Given the description of an element on the screen output the (x, y) to click on. 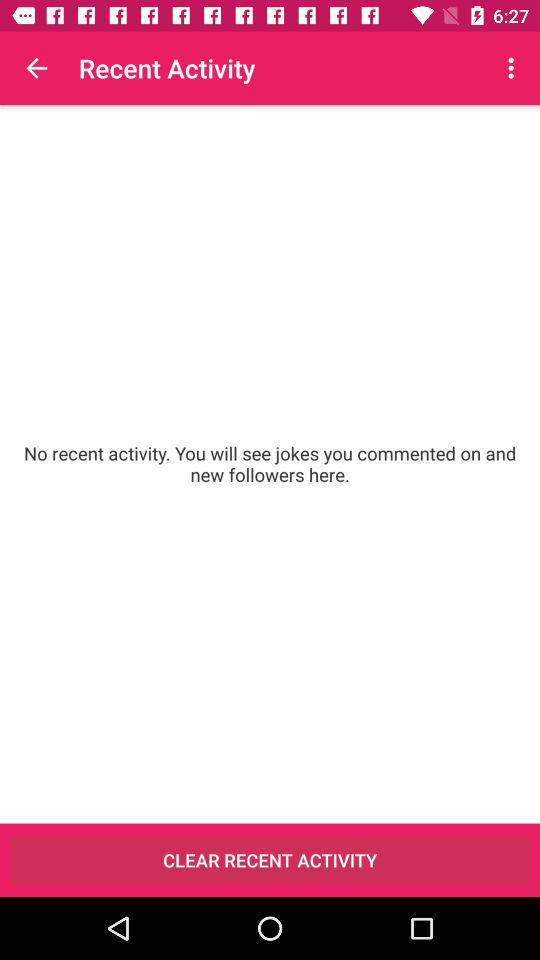
turn off the app next to the recent activity icon (36, 68)
